Given the description of an element on the screen output the (x, y) to click on. 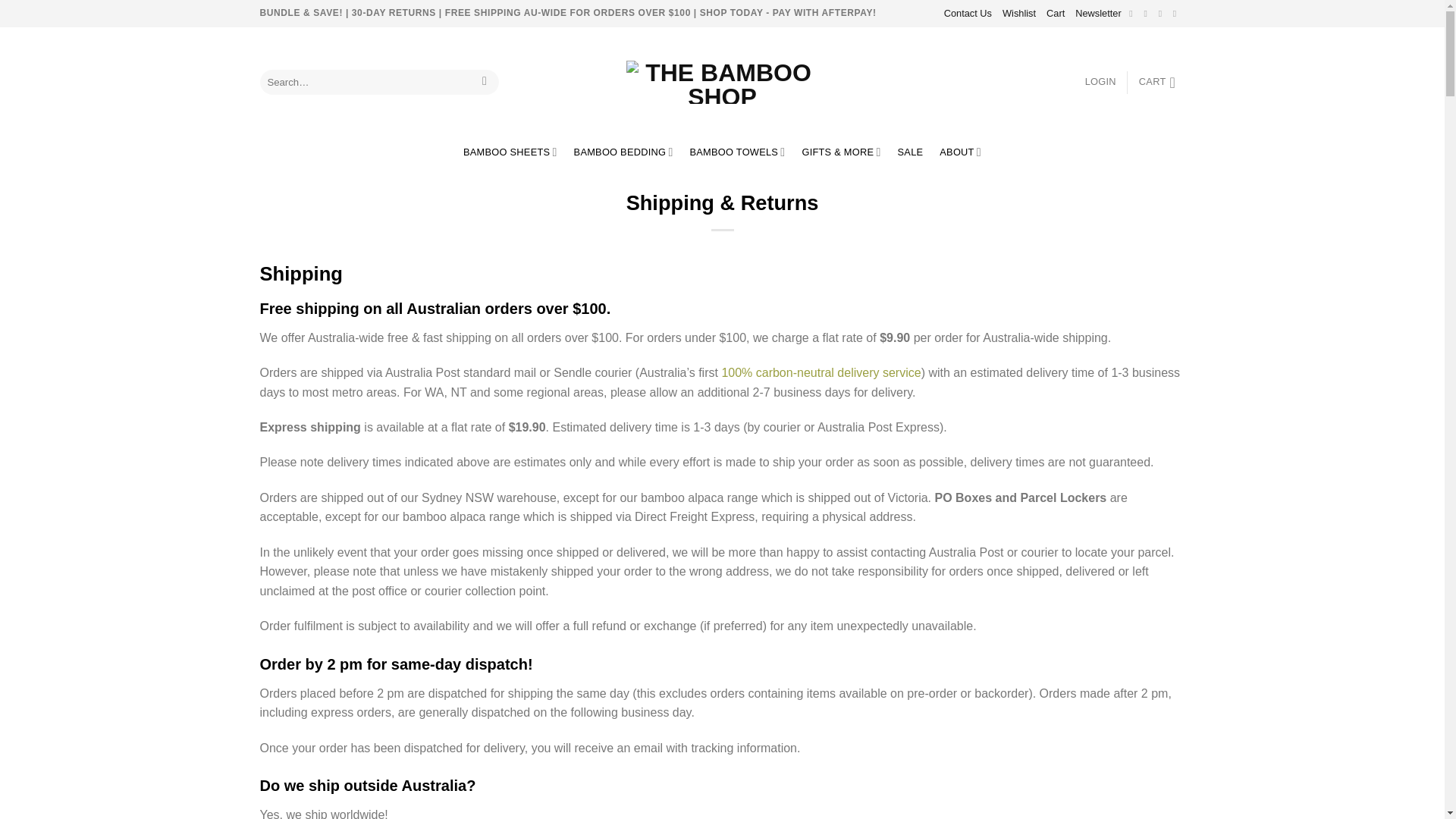
Login (1100, 81)
Wishlist (1019, 13)
Newsletter (1098, 13)
CART (1161, 81)
SALE (910, 152)
BAMBOO SHEETS (510, 152)
LOGIN (1100, 81)
ABOUT (960, 152)
Contact Us (967, 13)
BAMBOO BEDDING (622, 152)
